Given the description of an element on the screen output the (x, y) to click on. 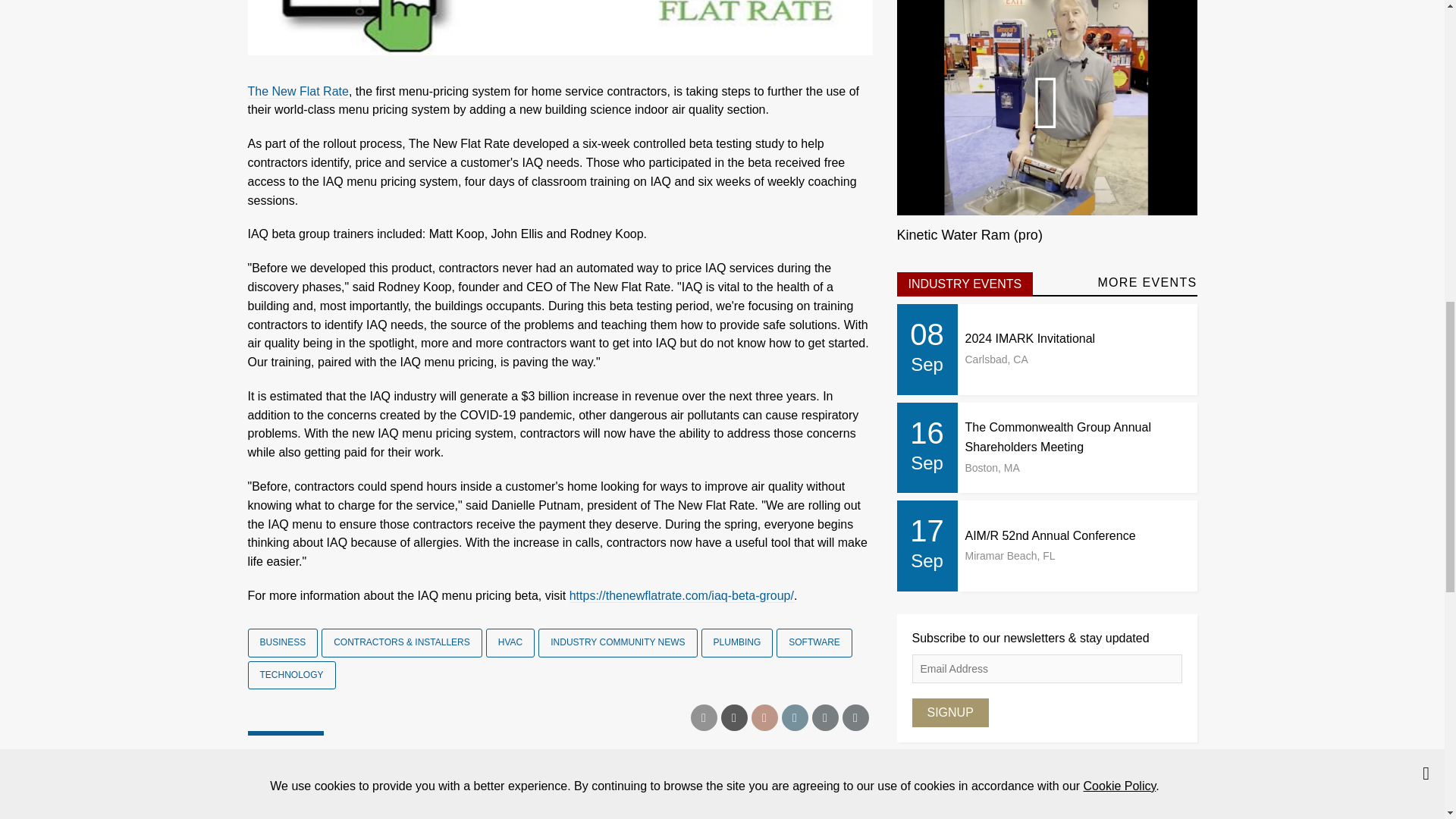
SIGNUP (949, 712)
